Given the description of an element on the screen output the (x, y) to click on. 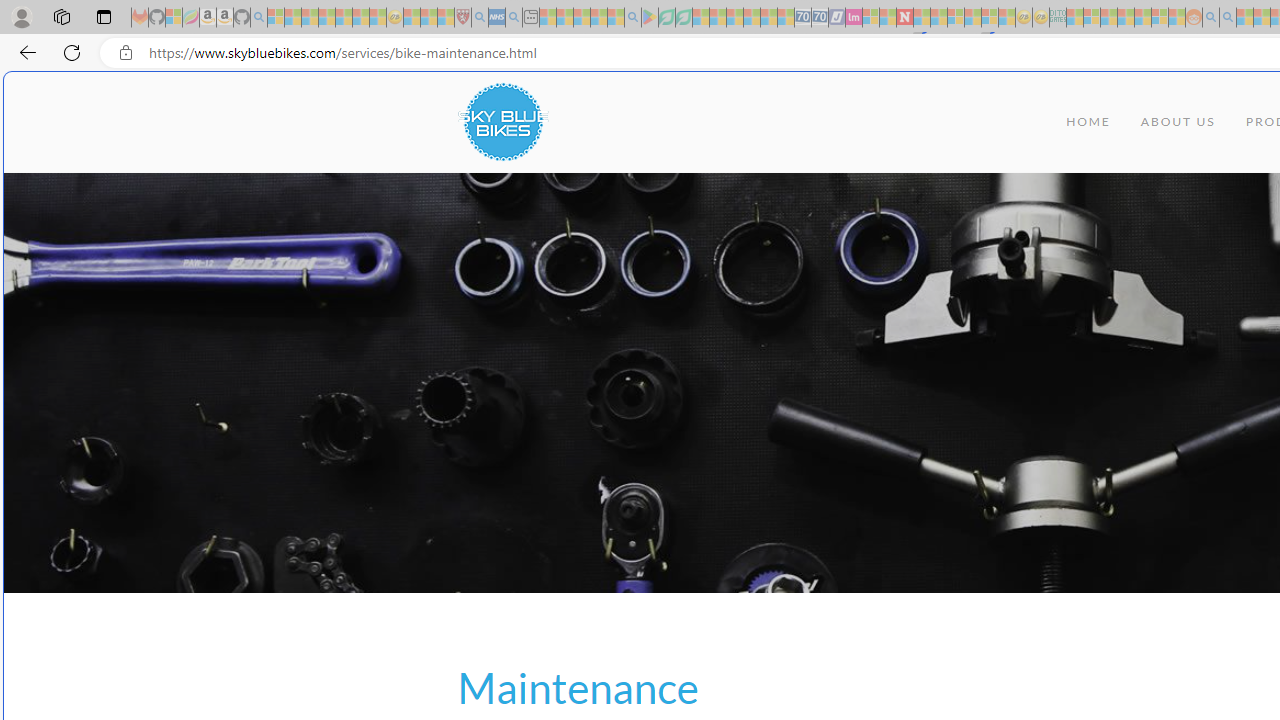
New Report Confirms 2023 Was Record Hot | Watch - Sleeping (343, 17)
Terms of Use Agreement - Sleeping (666, 17)
